Given the description of an element on the screen output the (x, y) to click on. 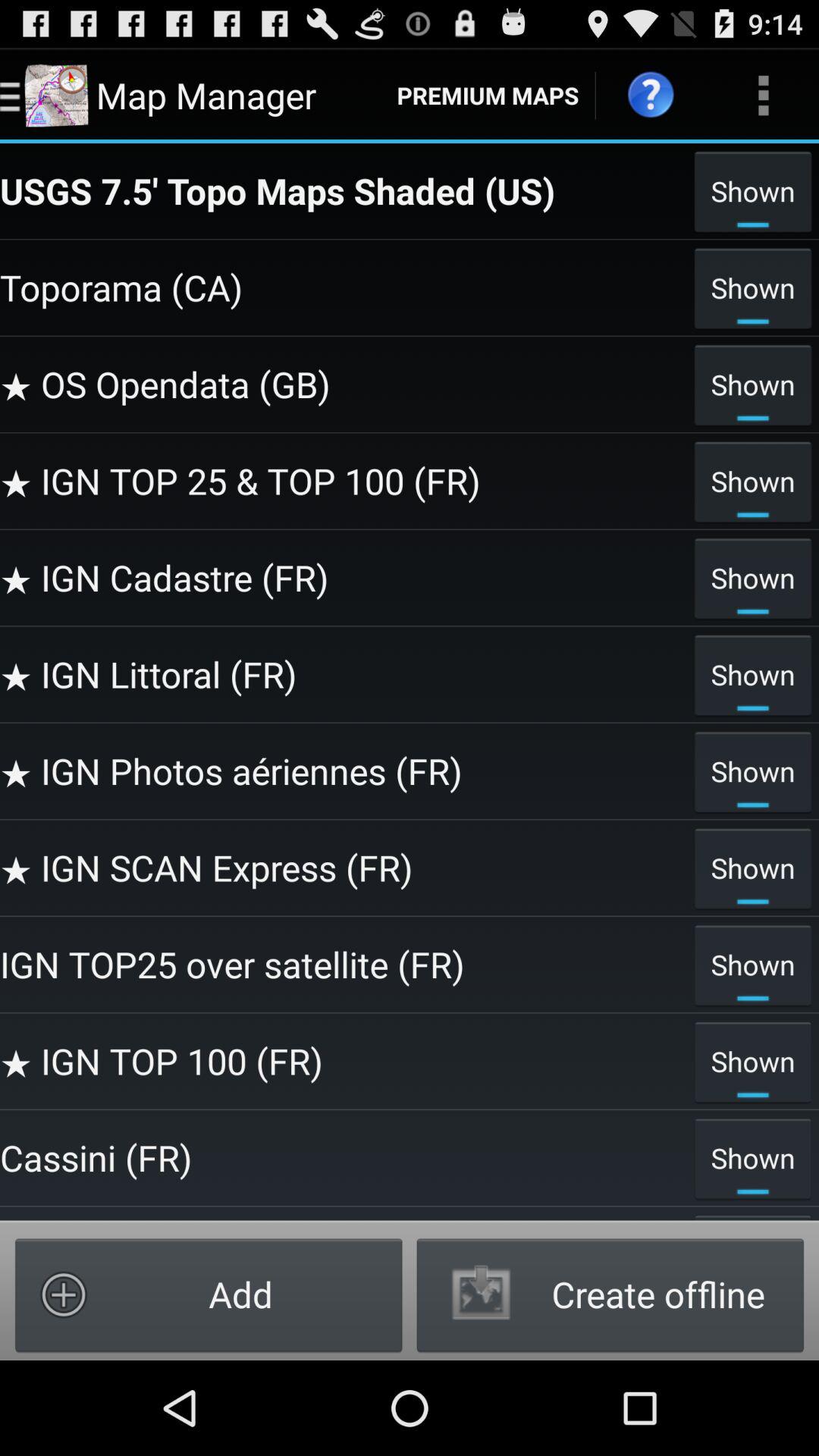
launch icon below the shown icon (343, 674)
